Given the description of an element on the screen output the (x, y) to click on. 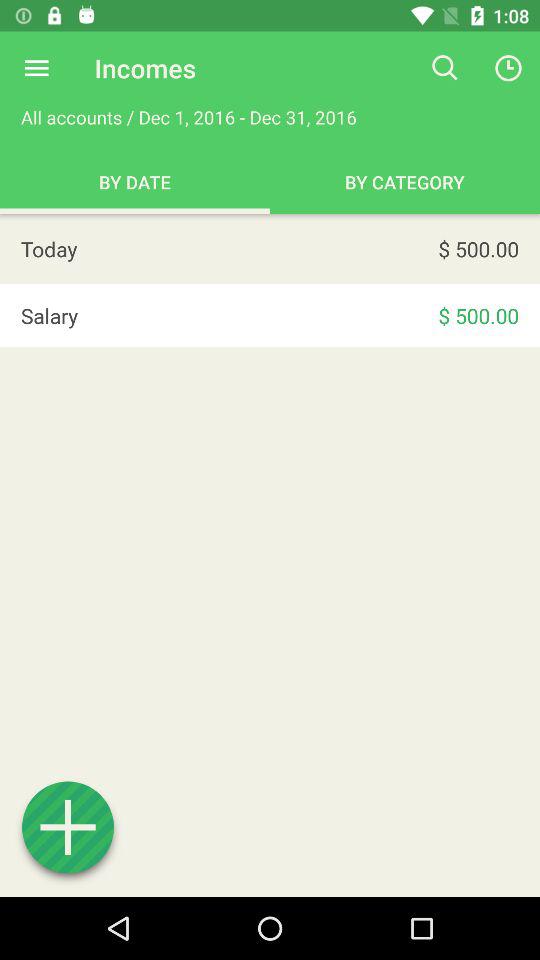
options (36, 68)
